Given the description of an element on the screen output the (x, y) to click on. 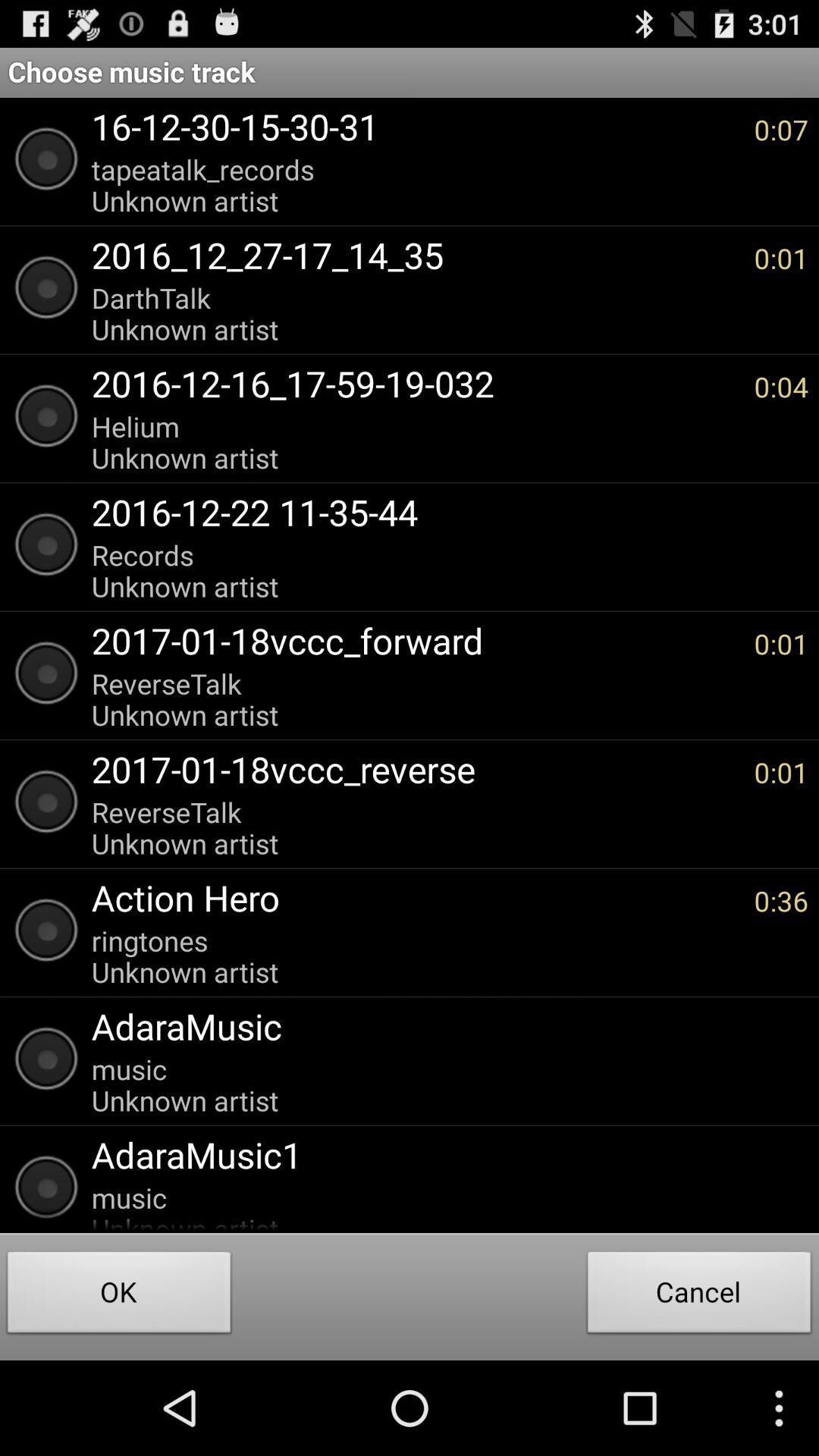
press the action hero (414, 897)
